Given the description of an element on the screen output the (x, y) to click on. 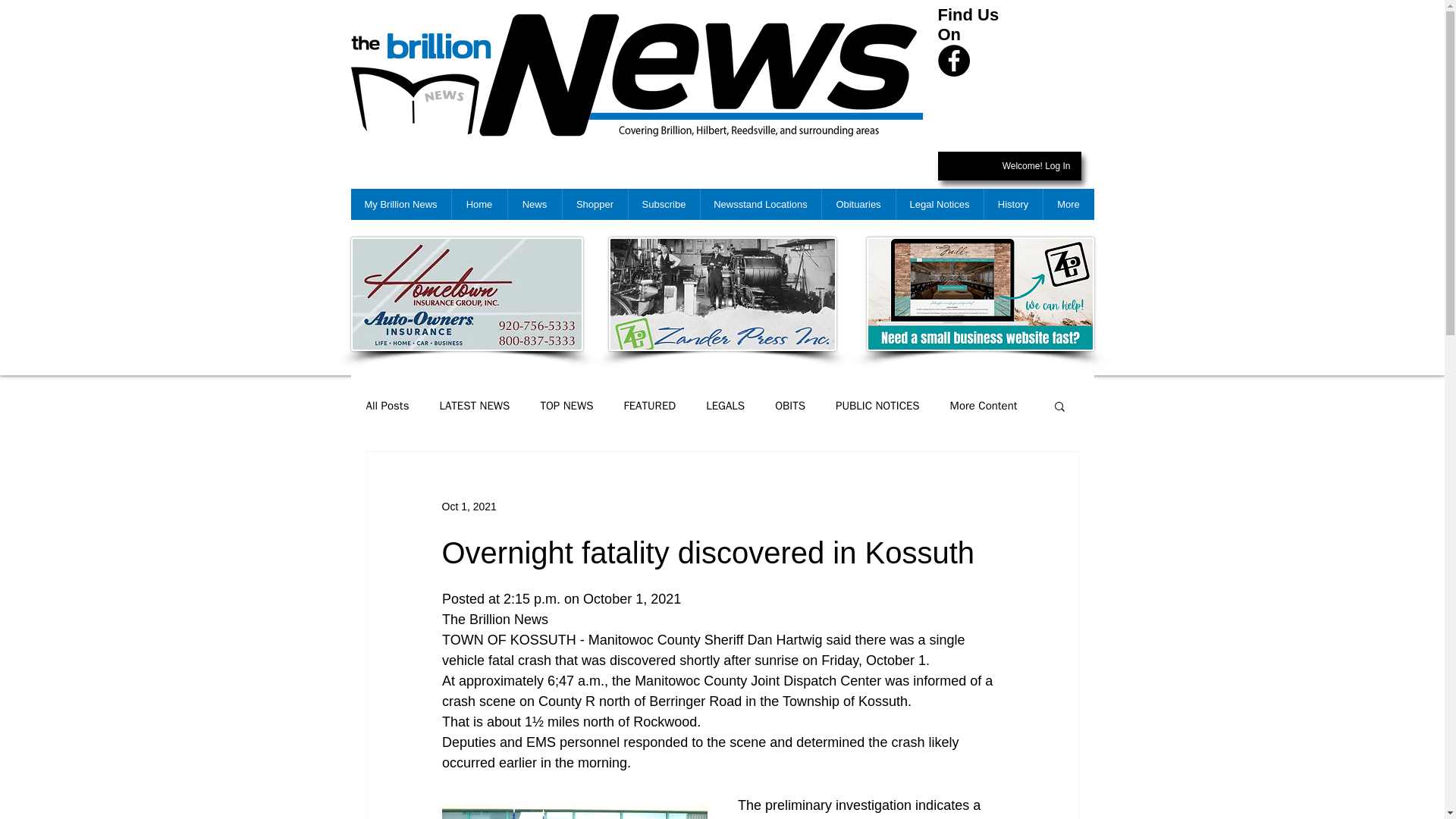
News (533, 204)
Shopper (593, 204)
Home (477, 204)
LATEST NEWS (474, 405)
More Content (983, 405)
History (1012, 204)
My Brillion News (399, 204)
All Posts (387, 405)
FEATURED (650, 405)
Legal Notices (938, 204)
